Given the description of an element on the screen output the (x, y) to click on. 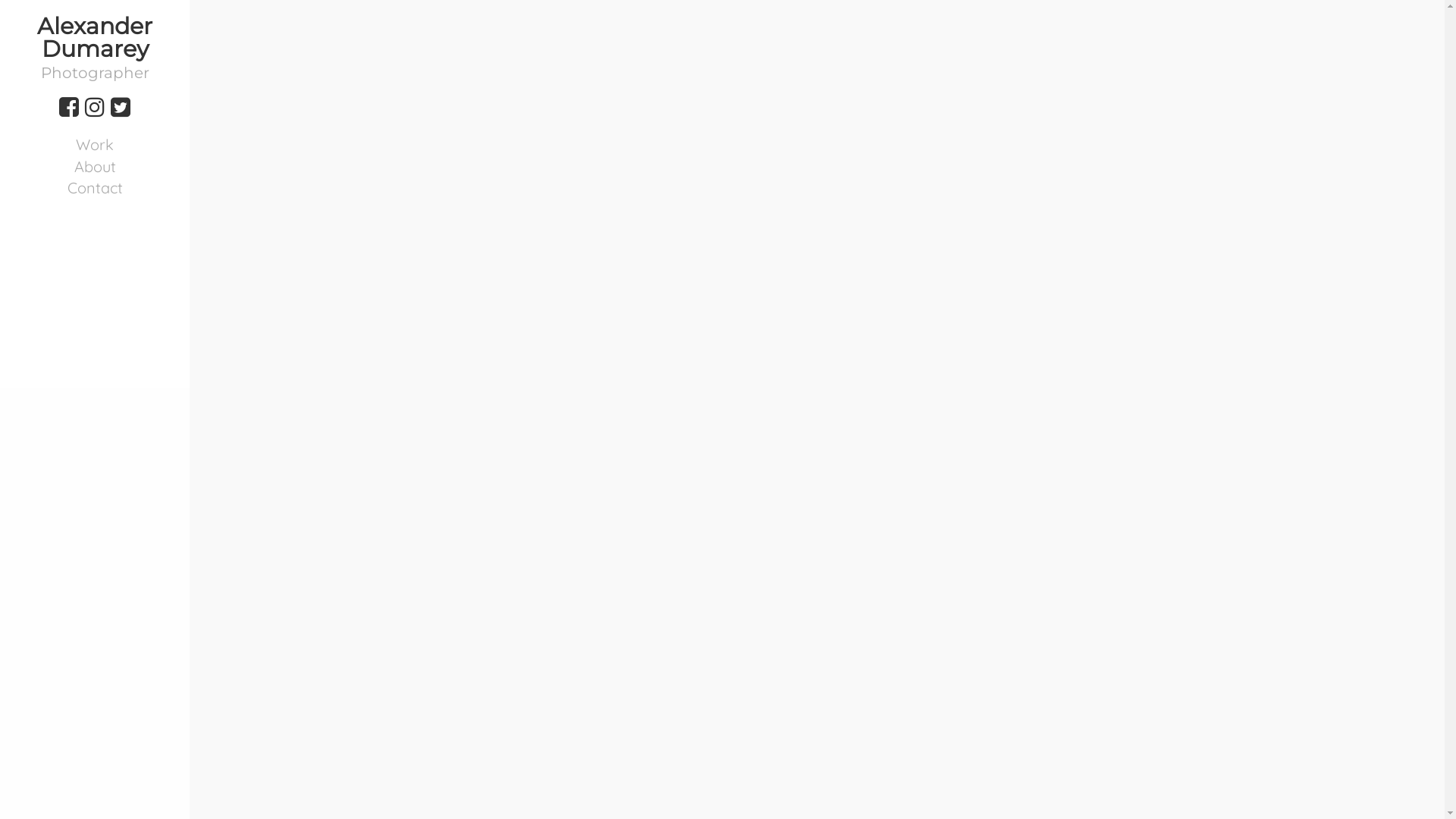
Work Element type: text (94, 145)
About Element type: text (94, 167)
Contact Element type: text (94, 188)
Alexander Dumarey
Photographer Element type: text (94, 47)
